Given the description of an element on the screen output the (x, y) to click on. 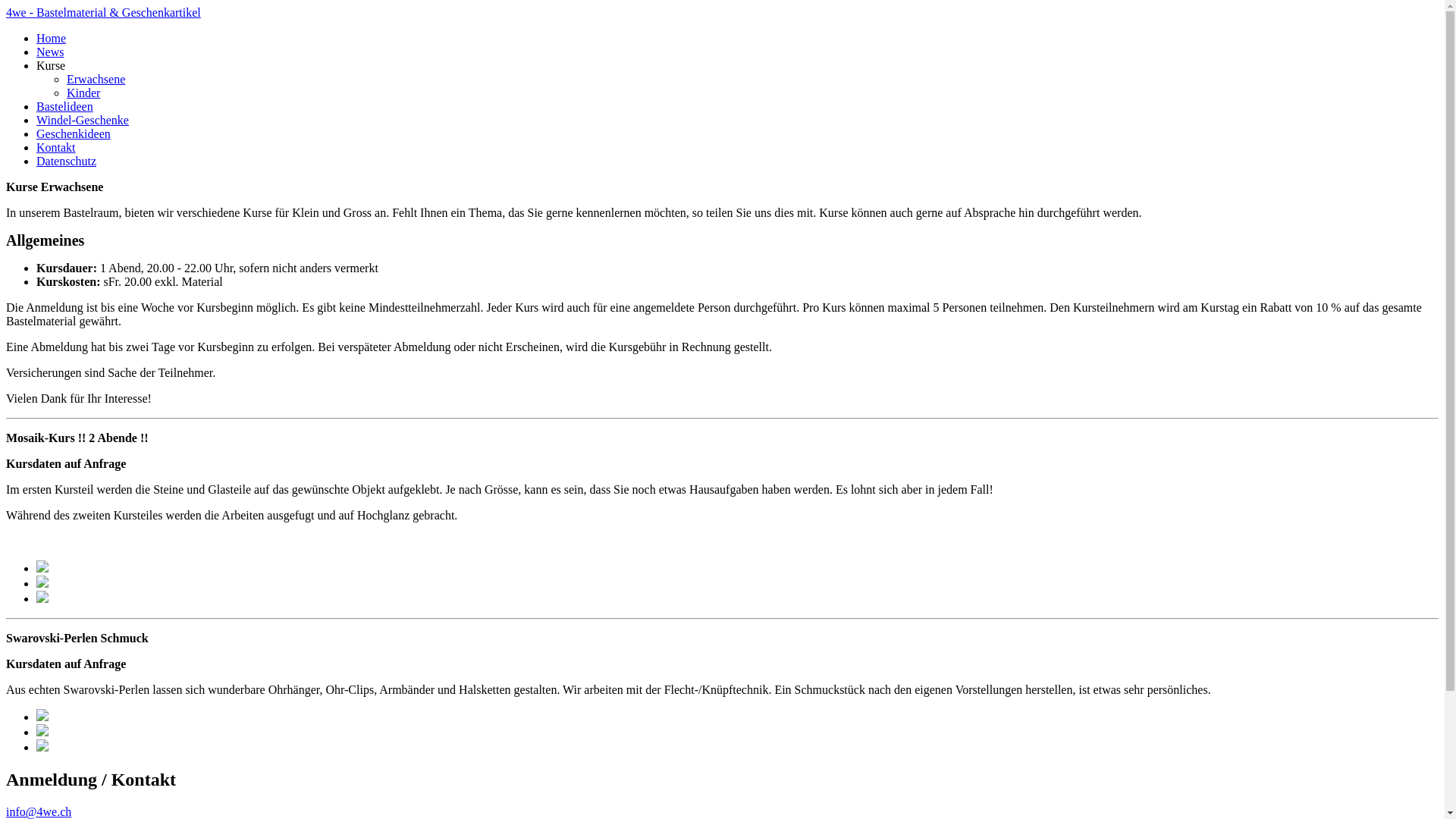
News Element type: text (49, 51)
Bastelideen Element type: text (64, 106)
4we - Bastelmaterial & Geschenkartikel Element type: text (103, 12)
Erwachsene Element type: text (95, 78)
Windel-Geschenke Element type: text (82, 119)
Geschenkideen Element type: text (73, 133)
Kinder Element type: text (83, 92)
Datenschutz Element type: text (66, 160)
info@4we.ch Element type: text (38, 811)
Home Element type: text (50, 37)
Kontakt Element type: text (55, 147)
